Given the description of an element on the screen output the (x, y) to click on. 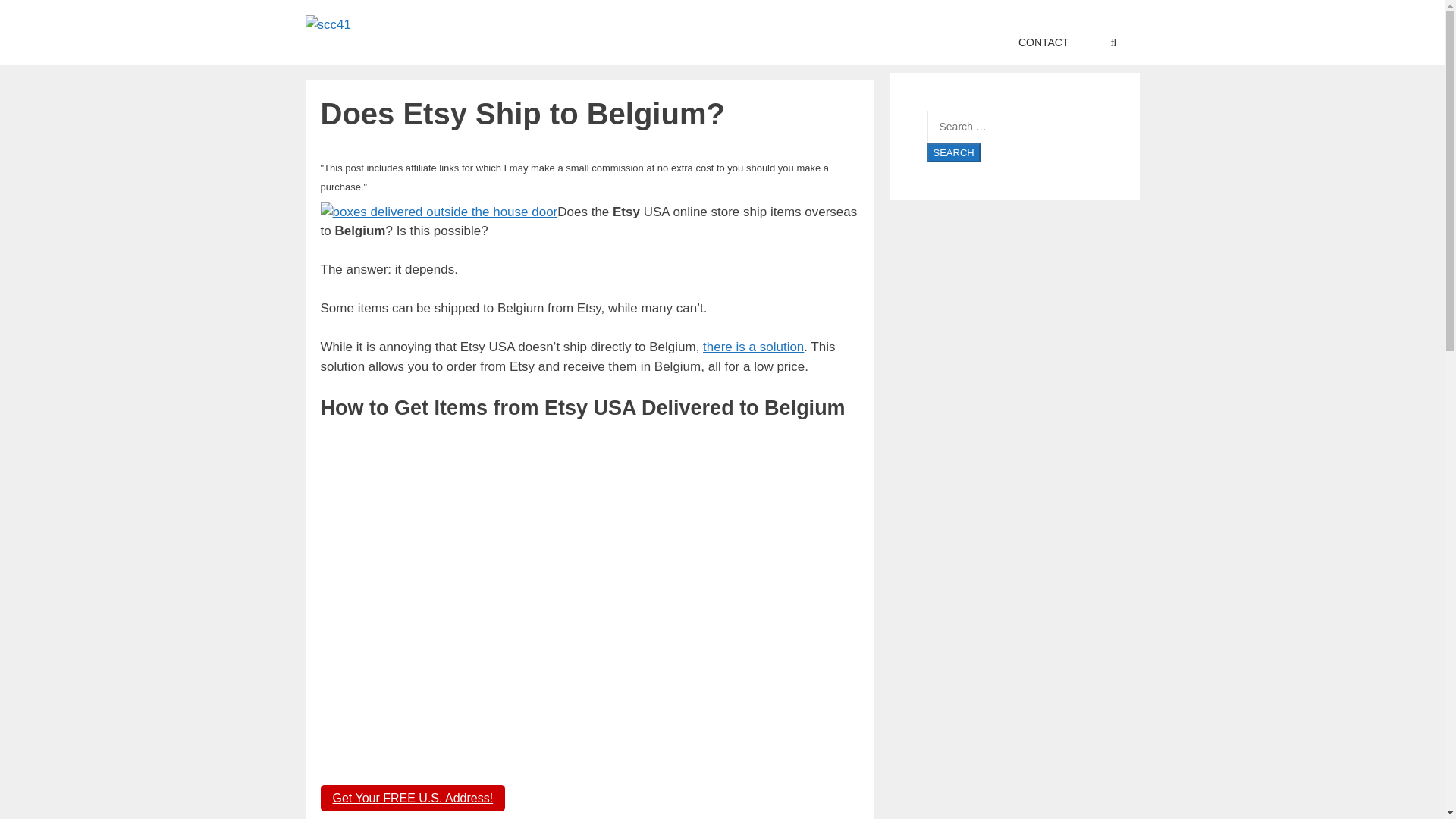
scc41 (327, 24)
Search for: (1004, 126)
there is a solution (753, 346)
Get Your FREE U.S. Address! (412, 797)
Search (952, 152)
CONTACT (1042, 42)
Search (952, 152)
Search (952, 152)
scc41 (327, 25)
